Given the description of an element on the screen output the (x, y) to click on. 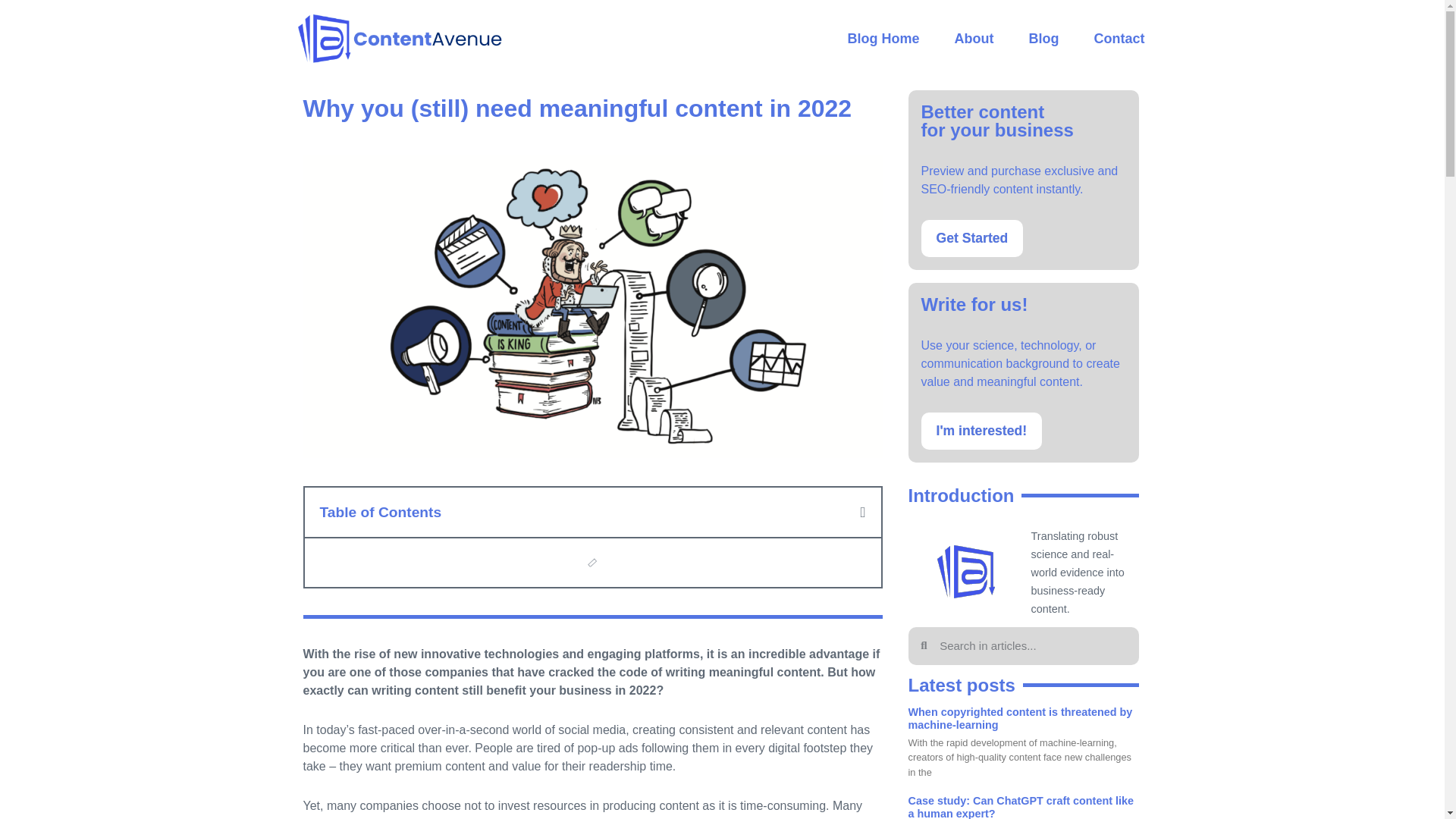
Contact (1119, 40)
Case study: Can ChatGPT craft content like a human expert? (1021, 806)
Get Started (971, 238)
I'm interested! (981, 430)
Blog Home (882, 40)
When copyrighted content is threatened by machine-learning (1020, 718)
